Given the description of an element on the screen output the (x, y) to click on. 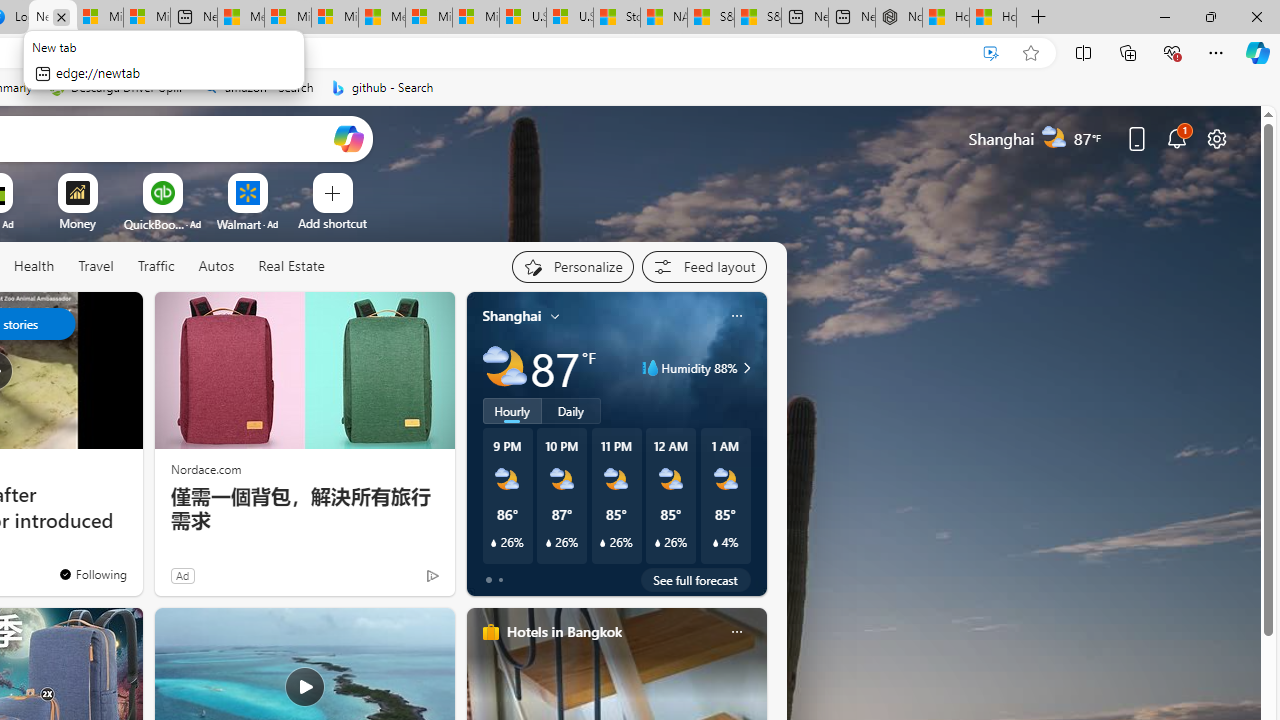
Open Copilot (347, 138)
github - Search (381, 88)
More options (736, 631)
S&P 500, Nasdaq end lower, weighed by Nvidia dip | Watch (757, 17)
Microsoft account | Privacy (288, 17)
